Given the description of an element on the screen output the (x, y) to click on. 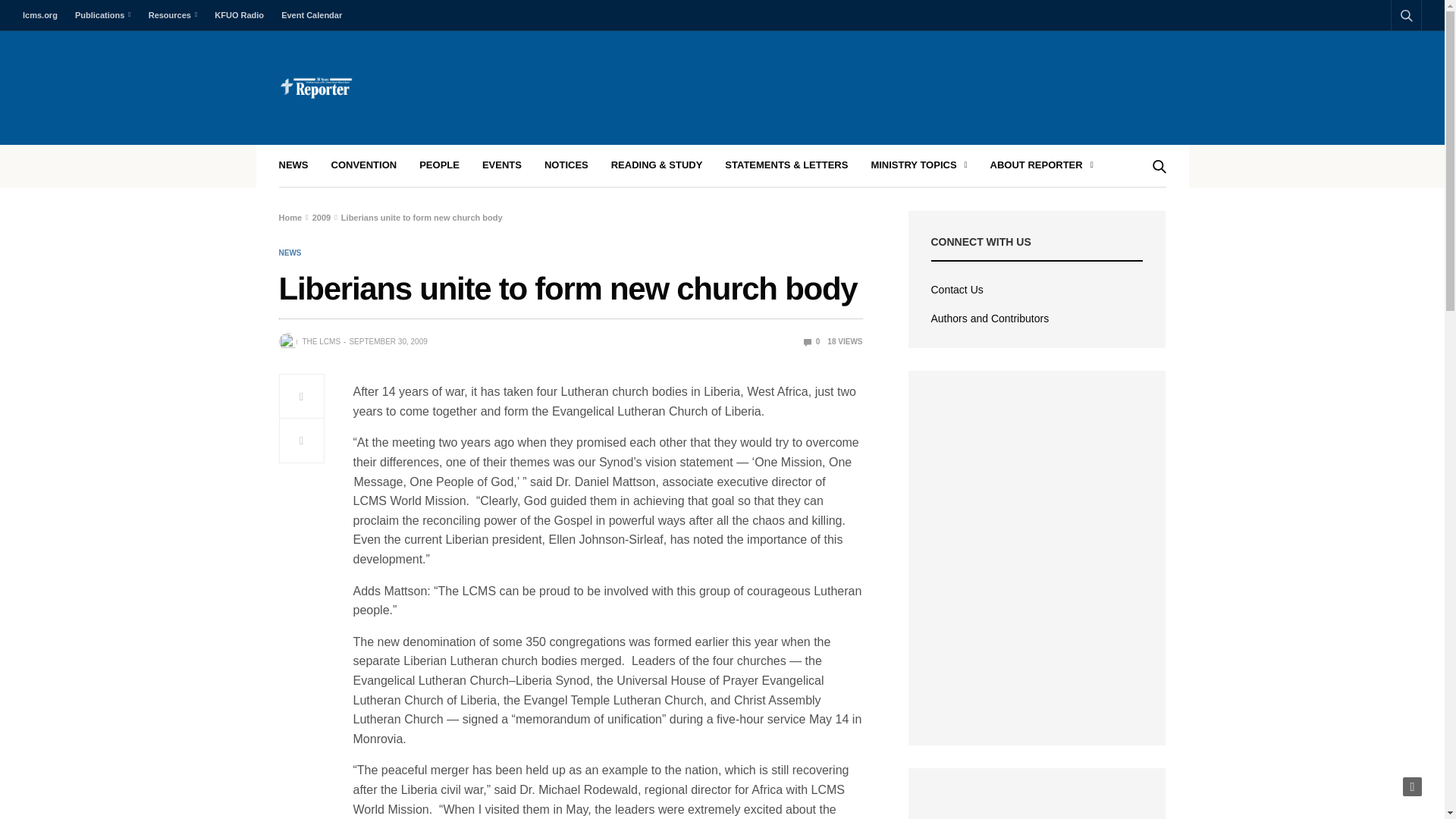
Publications (102, 15)
lcms.org (44, 15)
News (290, 253)
Posts by The LCMS (320, 341)
Liberians unite to form new church body (811, 341)
